Given the description of an element on the screen output the (x, y) to click on. 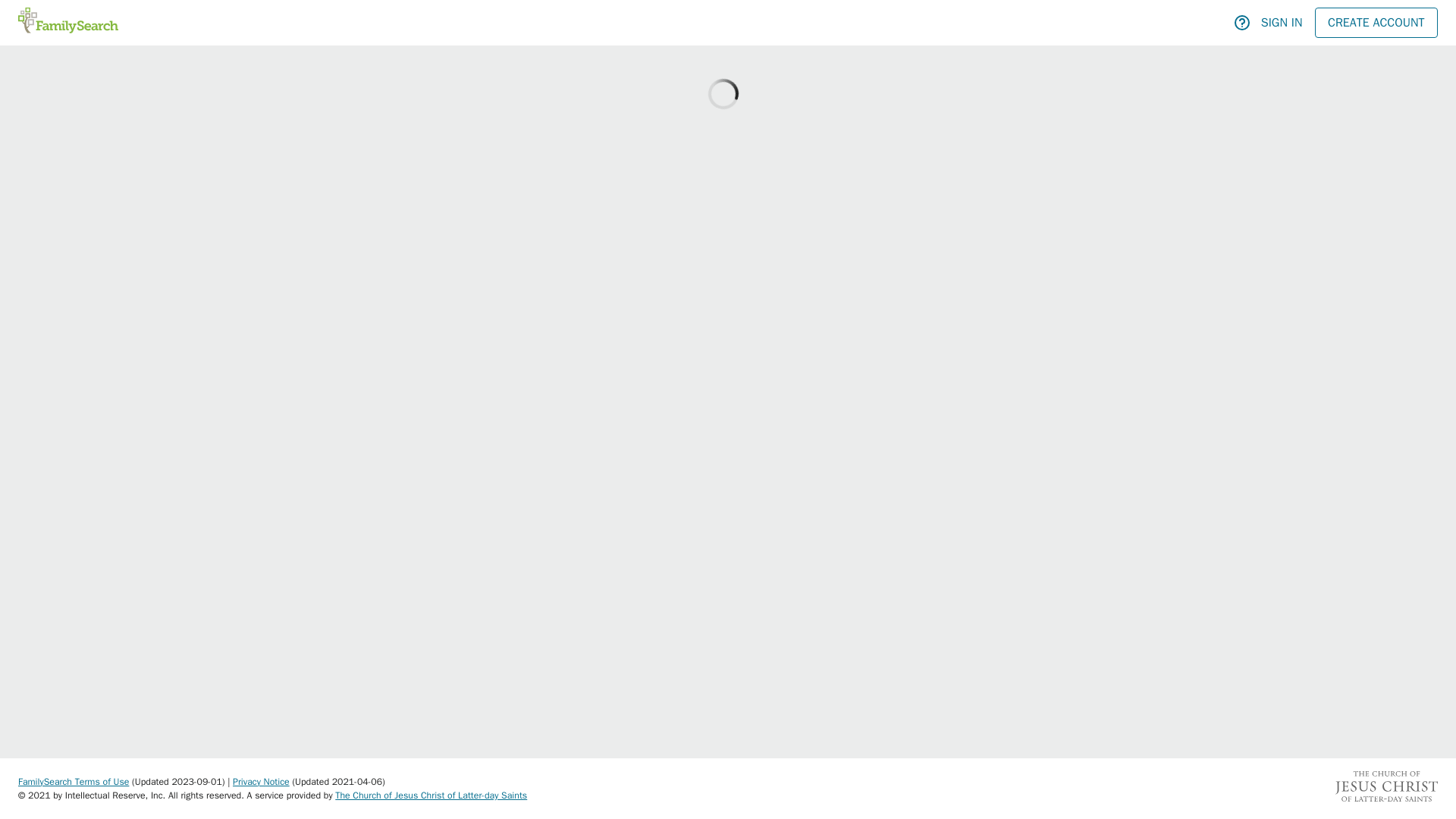
Privacy Notice (260, 781)
FamilySearch Terms of Use (73, 781)
The Church of Jesus Christ of Latter-day Saints (430, 795)
CREATE ACCOUNT (1376, 22)
SIGN IN (1280, 22)
